Given the description of an element on the screen output the (x, y) to click on. 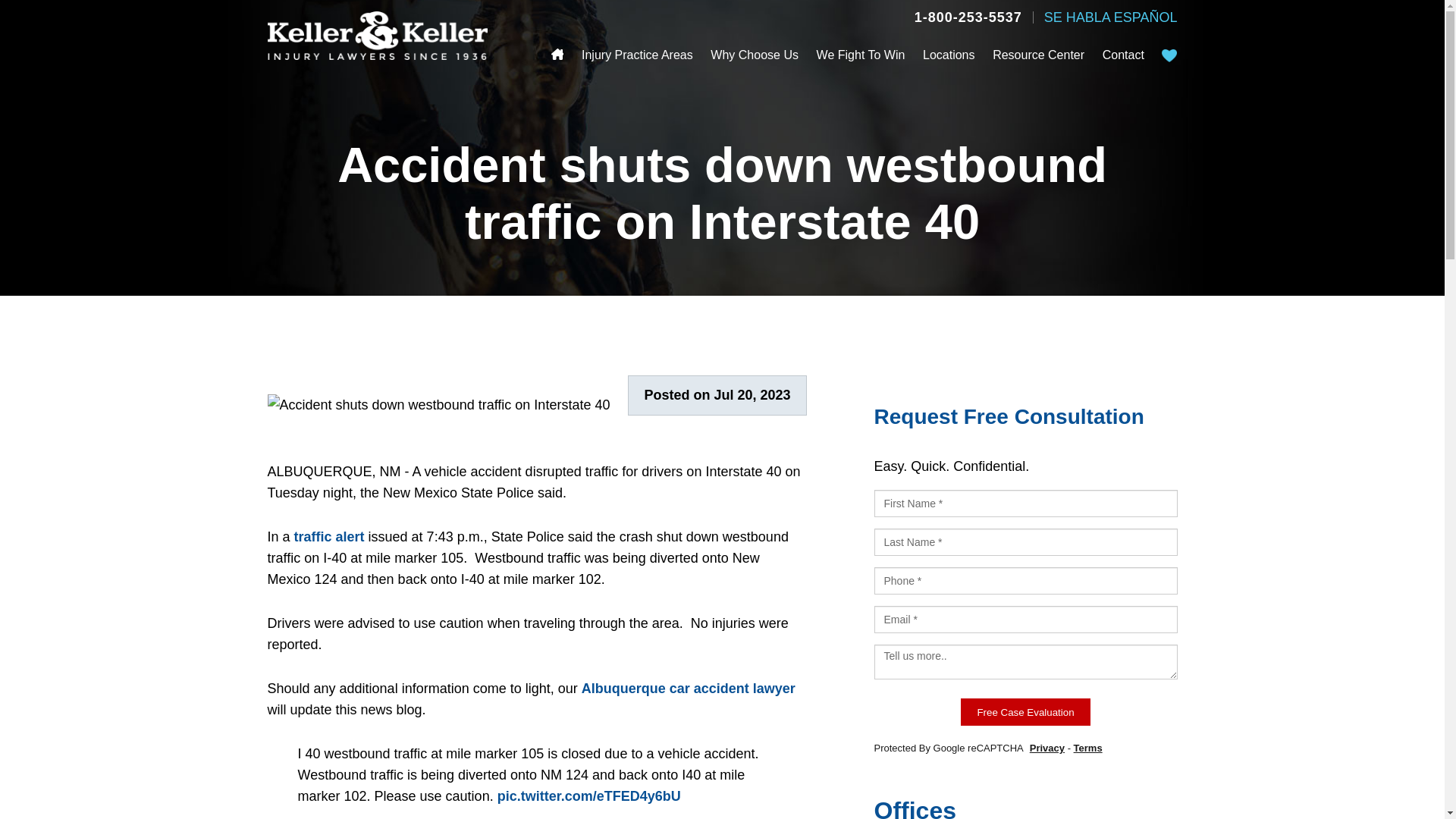
Injury Practice Areas (636, 55)
Why Choose Us (753, 55)
We Fight To Win (860, 55)
Locations (949, 55)
1-800-253-5537 (968, 17)
